Given the description of an element on the screen output the (x, y) to click on. 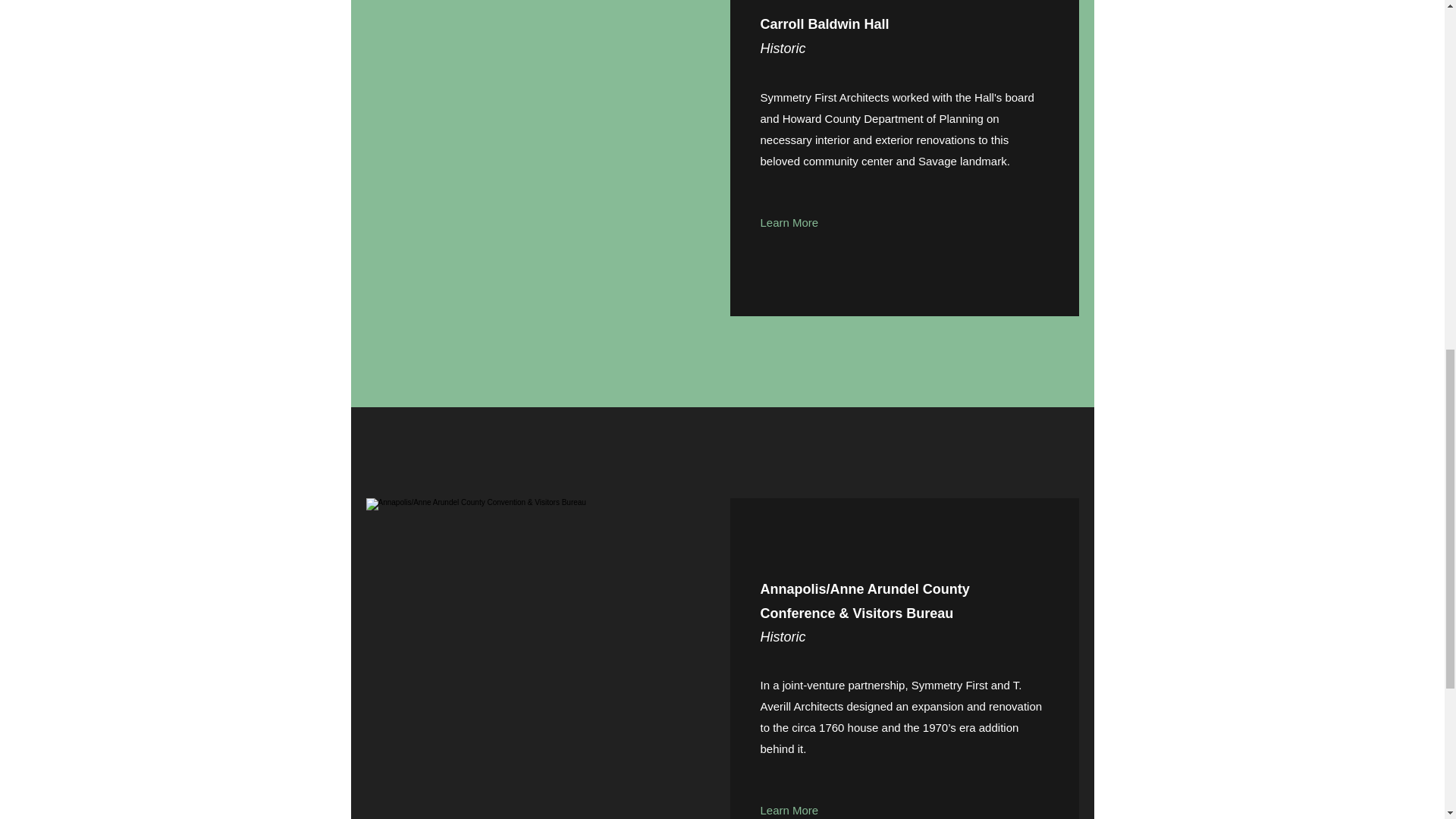
Learn More (789, 223)
Learn More (789, 809)
